Given the description of an element on the screen output the (x, y) to click on. 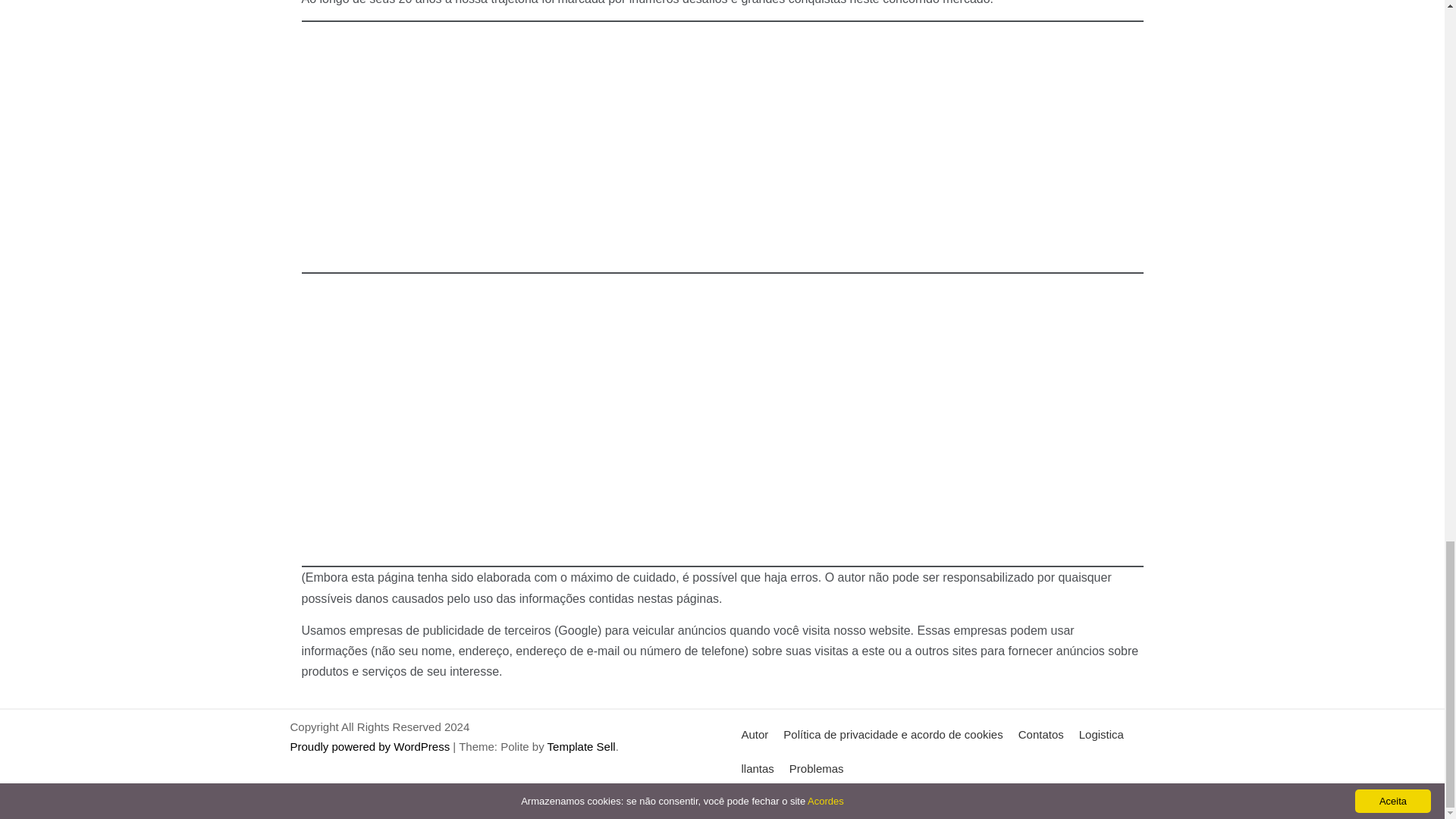
Logistica (1101, 734)
llantas (757, 768)
Autor (754, 734)
Contatos (1040, 734)
Proudly powered by WordPress (370, 746)
Problemas (816, 768)
Template Sell (581, 746)
